Given the description of an element on the screen output the (x, y) to click on. 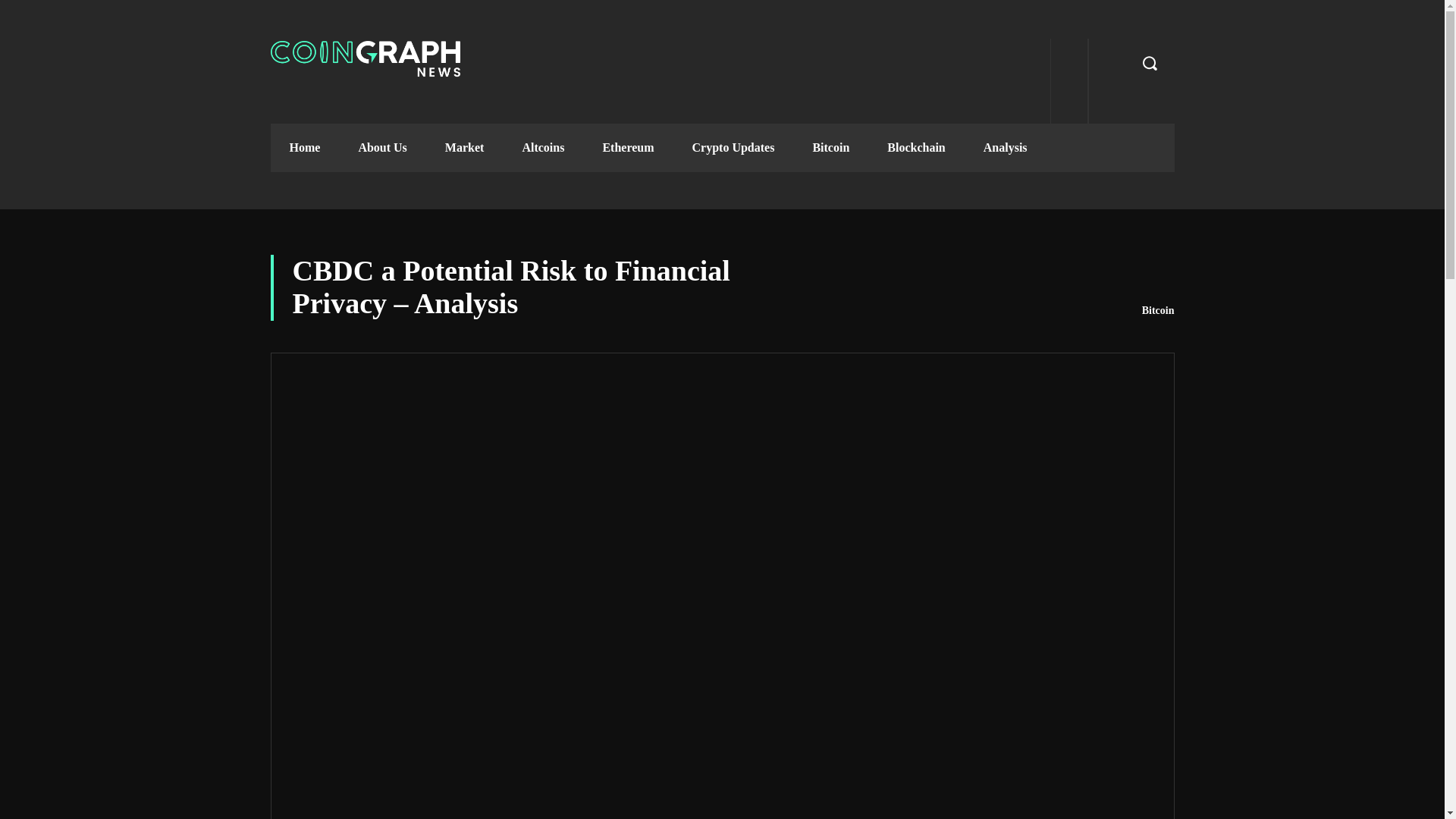
Blockchain (915, 147)
Crypto Updates (732, 147)
Ethereum (627, 147)
Bitcoin (830, 147)
Altcoins (542, 147)
About Us (382, 147)
Home (304, 147)
Analysis (1004, 147)
Market (464, 147)
Bitcoin (1157, 310)
